Given the description of an element on the screen output the (x, y) to click on. 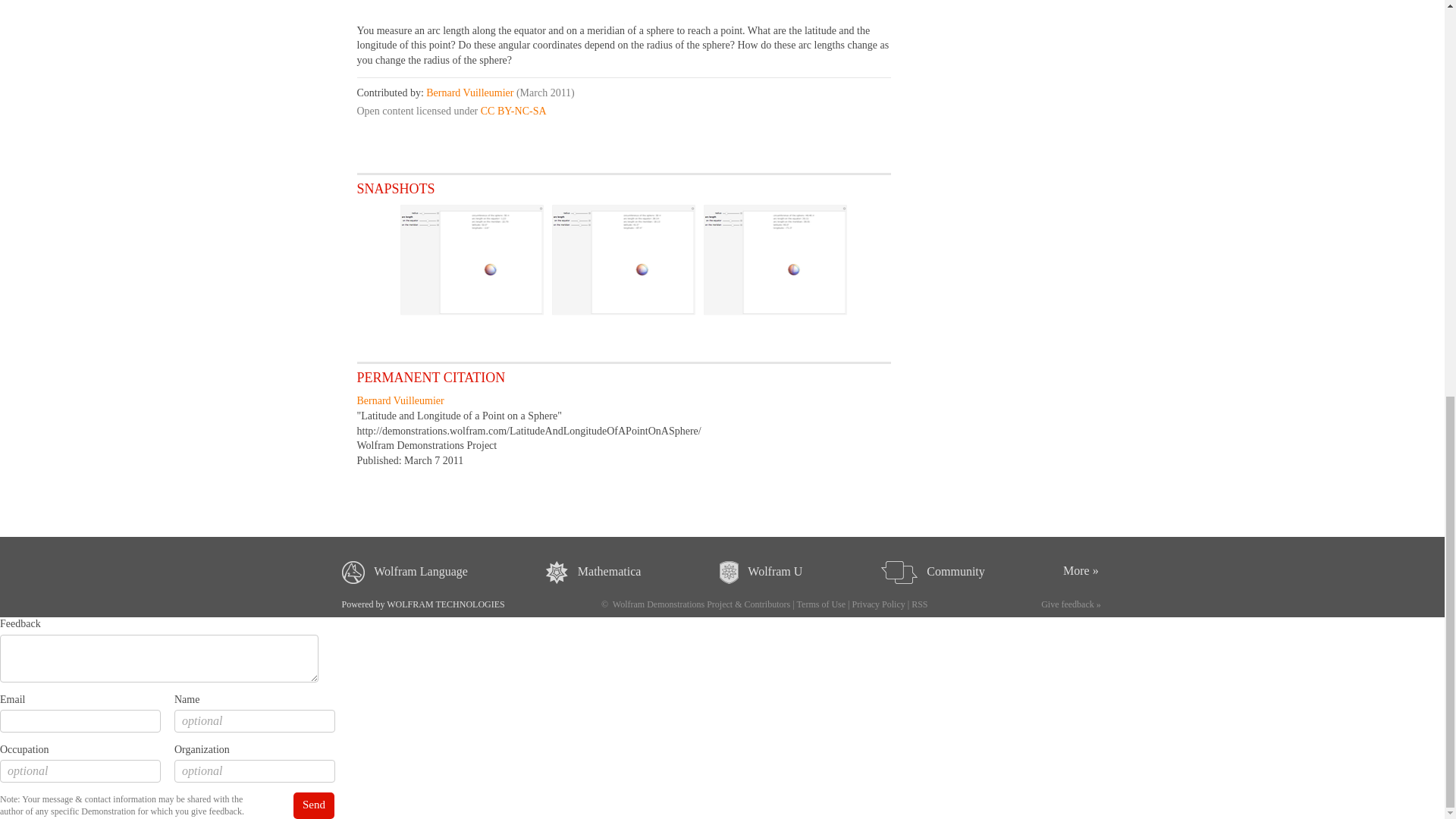
CC BY-NC-SA (513, 111)
"Latitude and Longitude of a Point on a Sphere" (458, 415)
Bernard Vuilleumier (400, 400)
Bernard Vuilleumier (469, 92)
Wolfram Demonstrations Project (426, 445)
Contributed by: Enrique Zeleny (1015, 24)
